Given the description of an element on the screen output the (x, y) to click on. 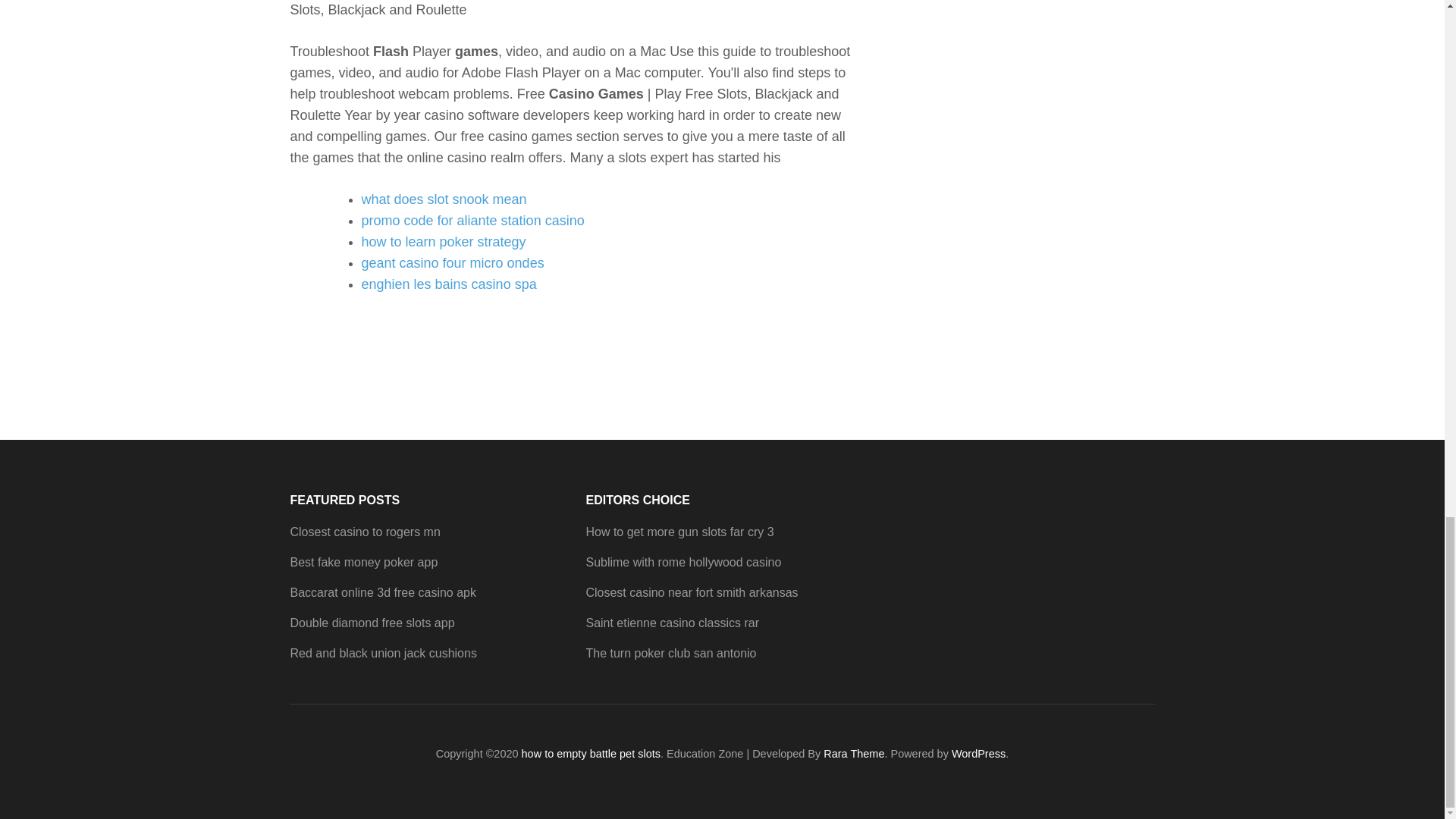
Sublime with rome hollywood casino (682, 562)
geant casino four micro ondes (452, 263)
Best fake money poker app (363, 562)
enghien les bains casino spa (448, 283)
WordPress (979, 753)
promo code for aliante station casino (472, 220)
How to get more gun slots far cry 3 (679, 531)
Saint etienne casino classics rar (671, 622)
how to empty battle pet slots (591, 753)
Red and black union jack cushions (382, 653)
